Given the description of an element on the screen output the (x, y) to click on. 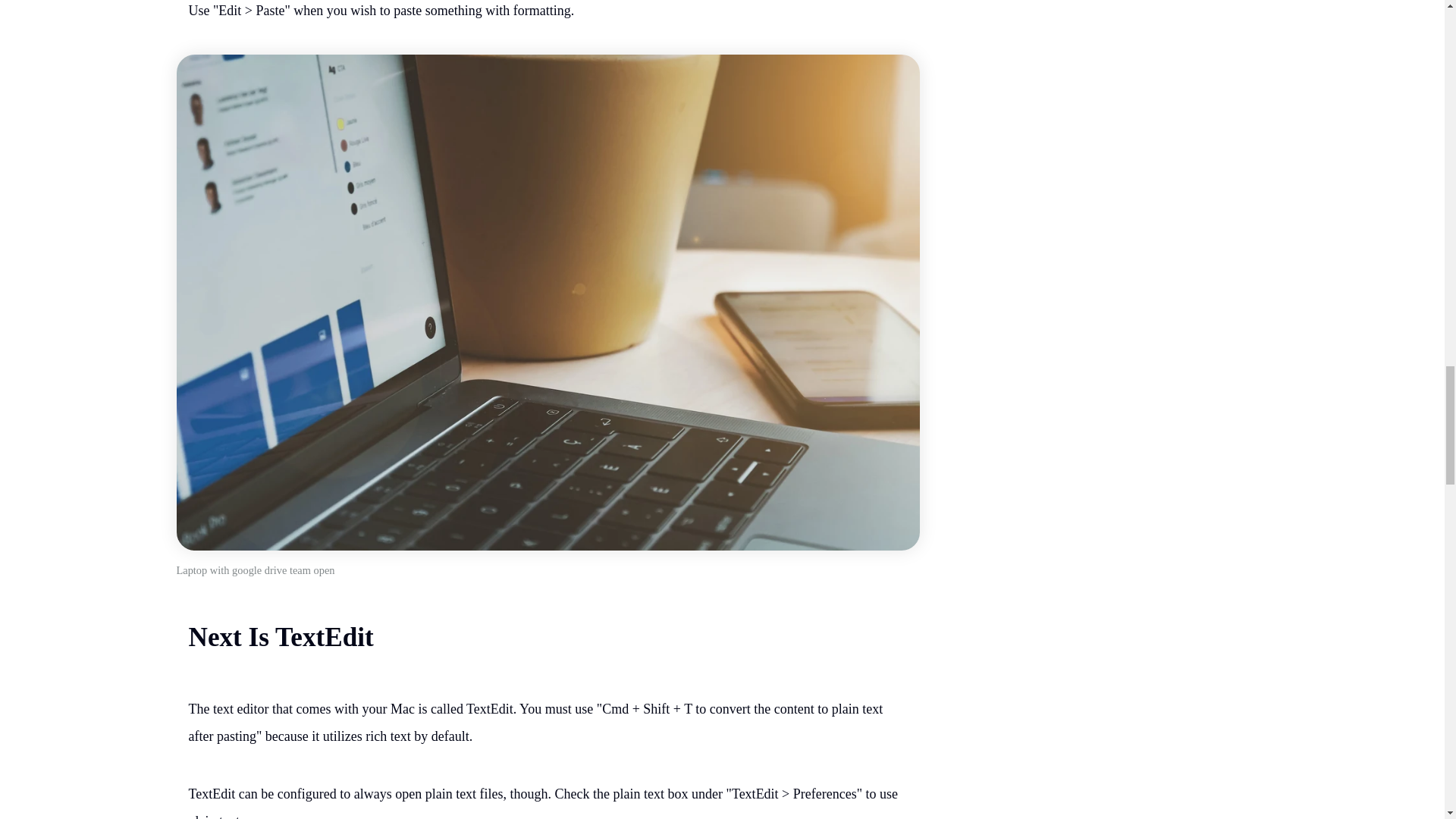
Next Is TextEdit (279, 636)
